Given the description of an element on the screen output the (x, y) to click on. 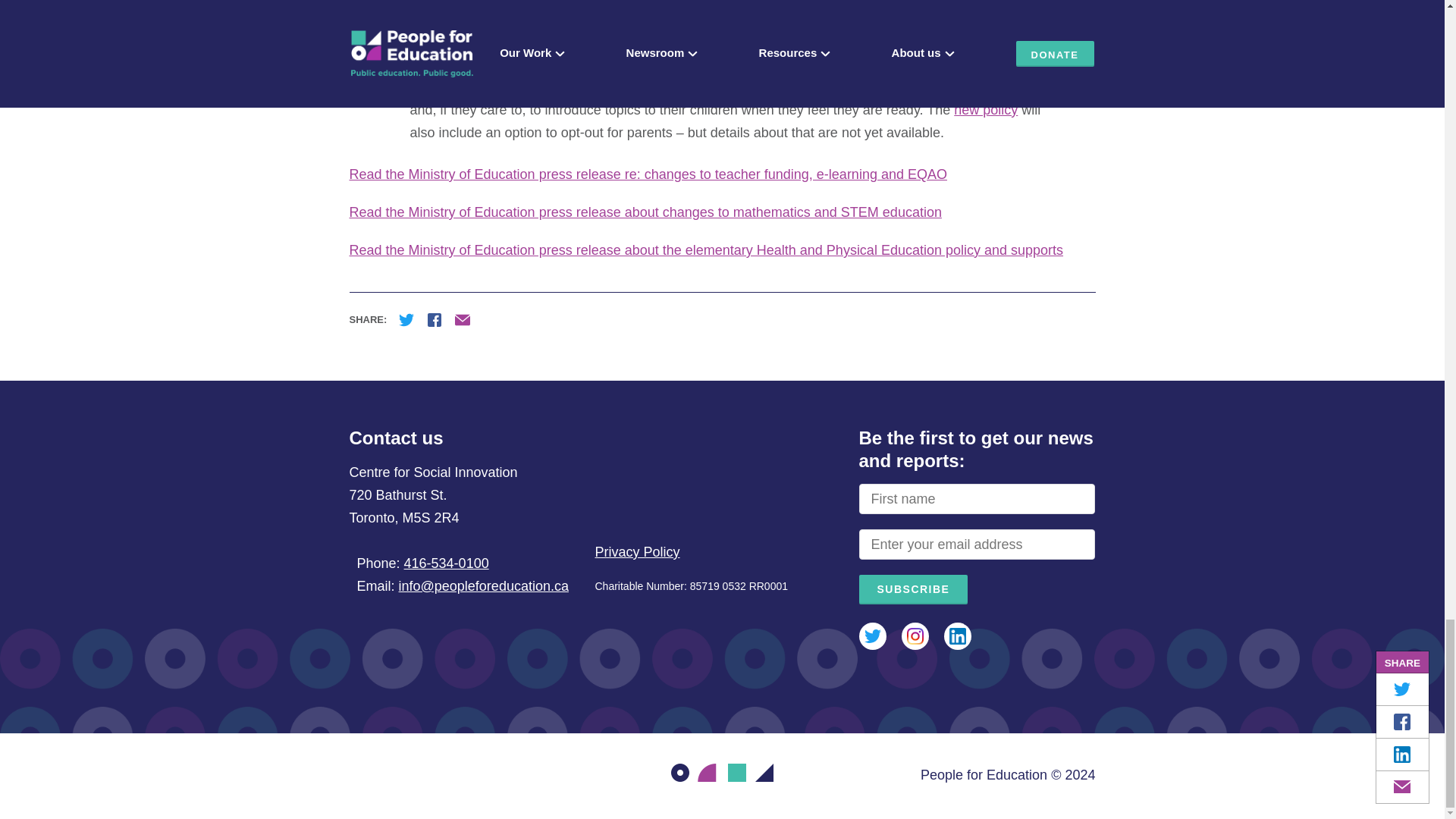
Follow on Instagram (914, 636)
Subscribe (913, 589)
Follow on LinkedIn (957, 636)
Follow on Twitter (872, 636)
